Given the description of an element on the screen output the (x, y) to click on. 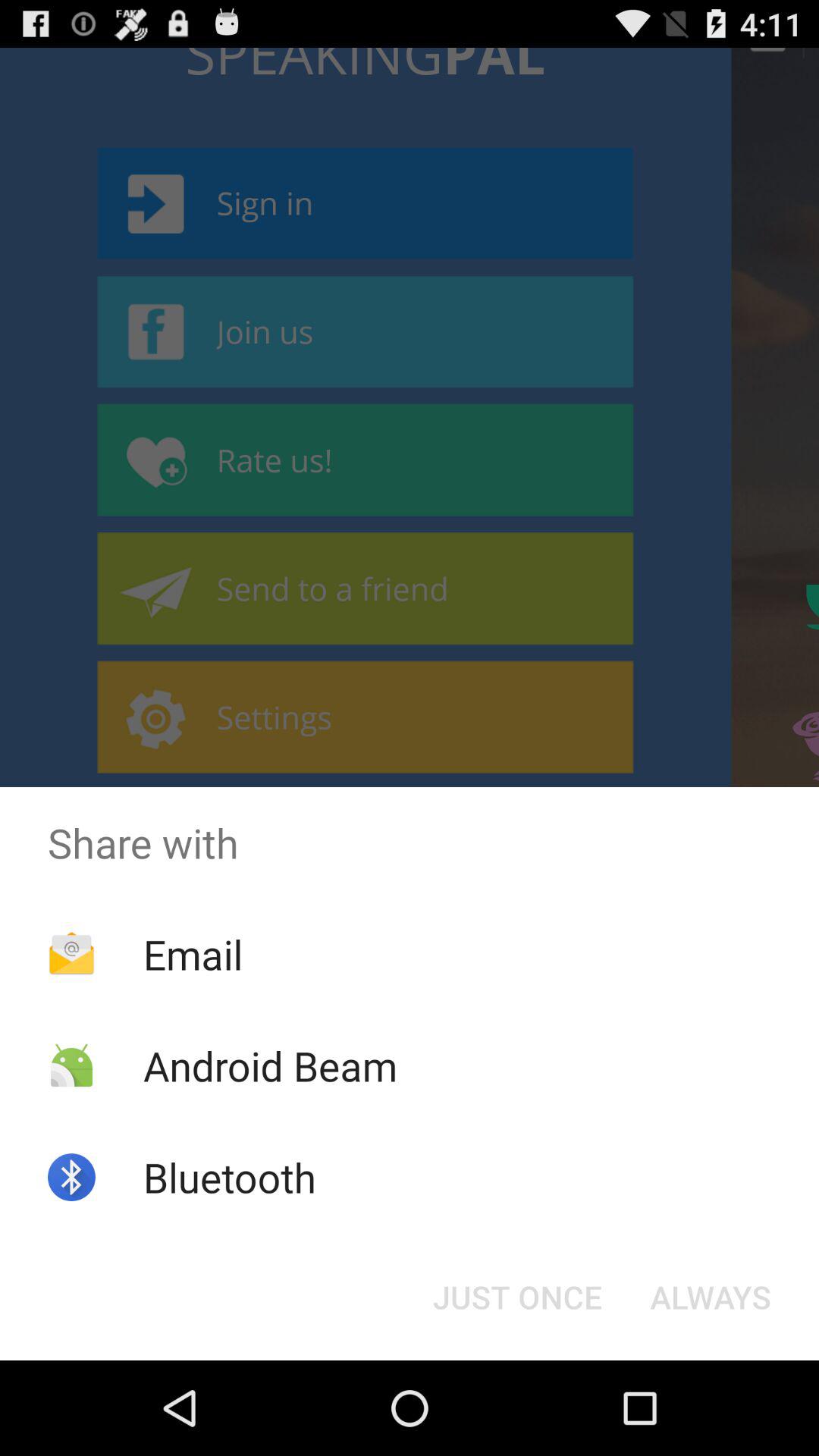
flip until the android beam (270, 1065)
